Given the description of an element on the screen output the (x, y) to click on. 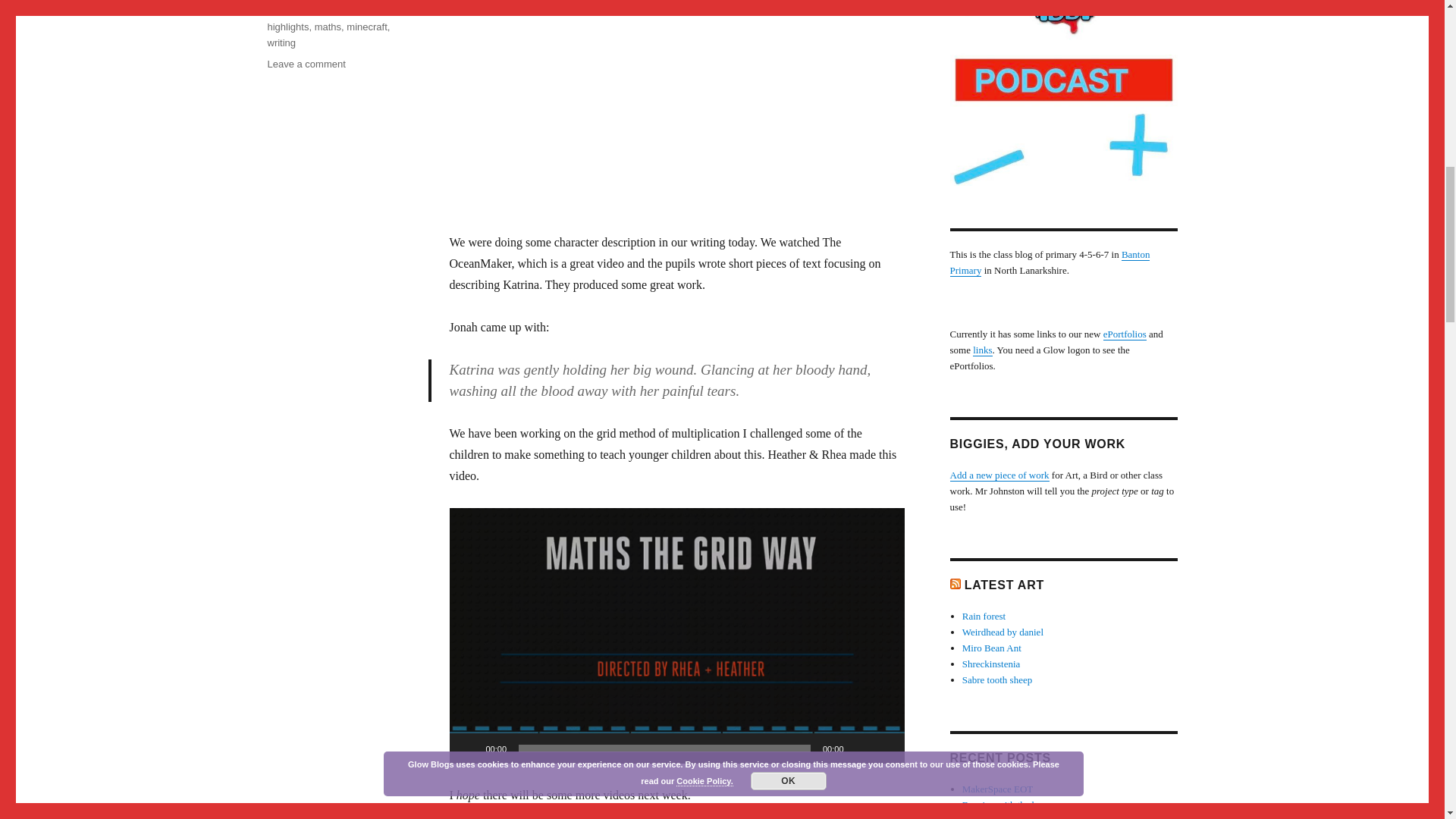
highlights (287, 26)
maths (327, 26)
Mute (859, 748)
Play (305, 63)
Highlights (468, 748)
writing (288, 5)
minecraft (280, 42)
Fullscreen (366, 26)
